Given the description of an element on the screen output the (x, y) to click on. 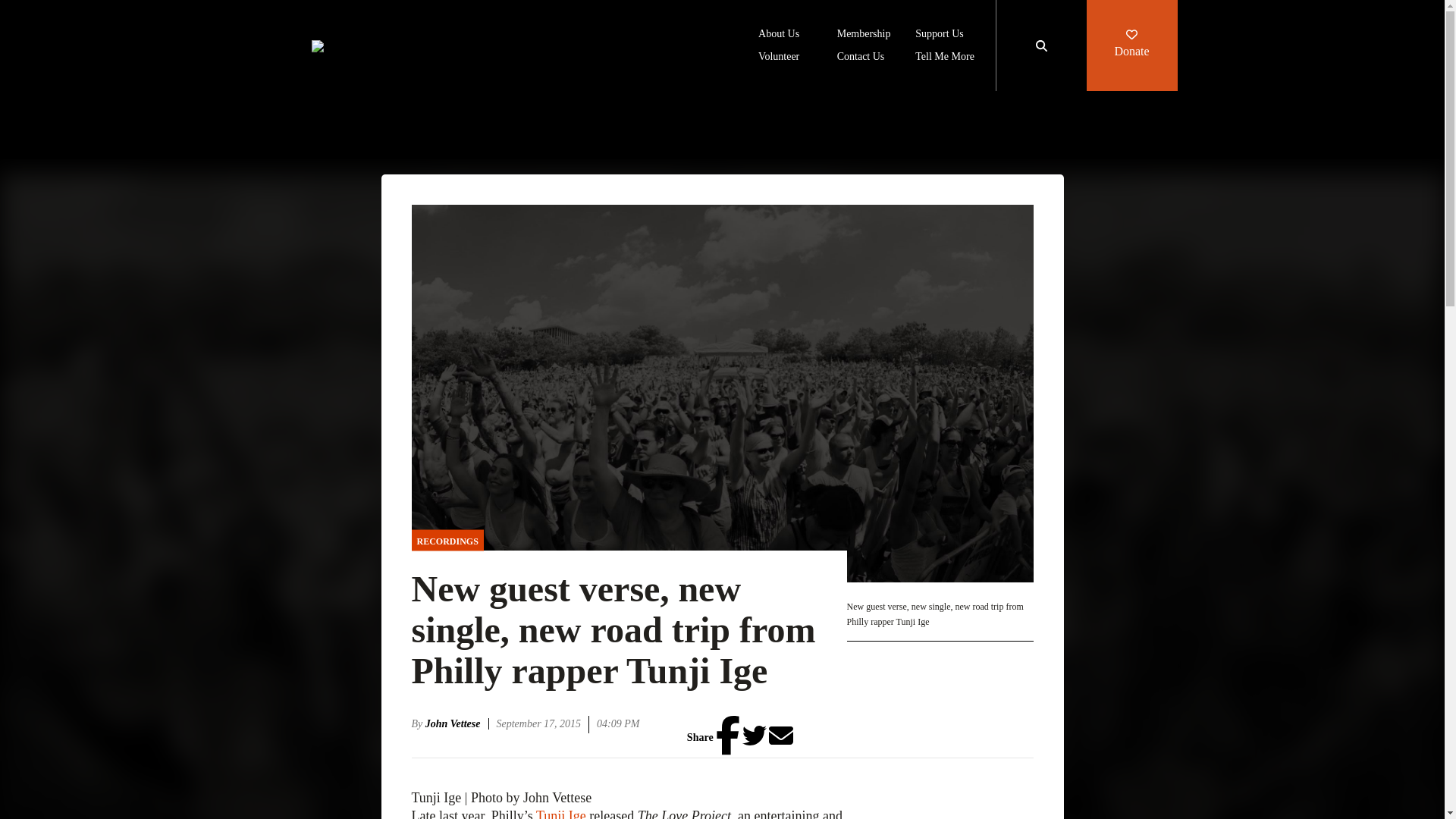
About Us (778, 35)
Volunteer (778, 57)
Tunji Ige (560, 813)
Donate (1131, 45)
Support Us (938, 35)
Tell Me More (944, 57)
Membership (864, 35)
Contact Us (861, 57)
John Vettese (457, 723)
